Given the description of an element on the screen output the (x, y) to click on. 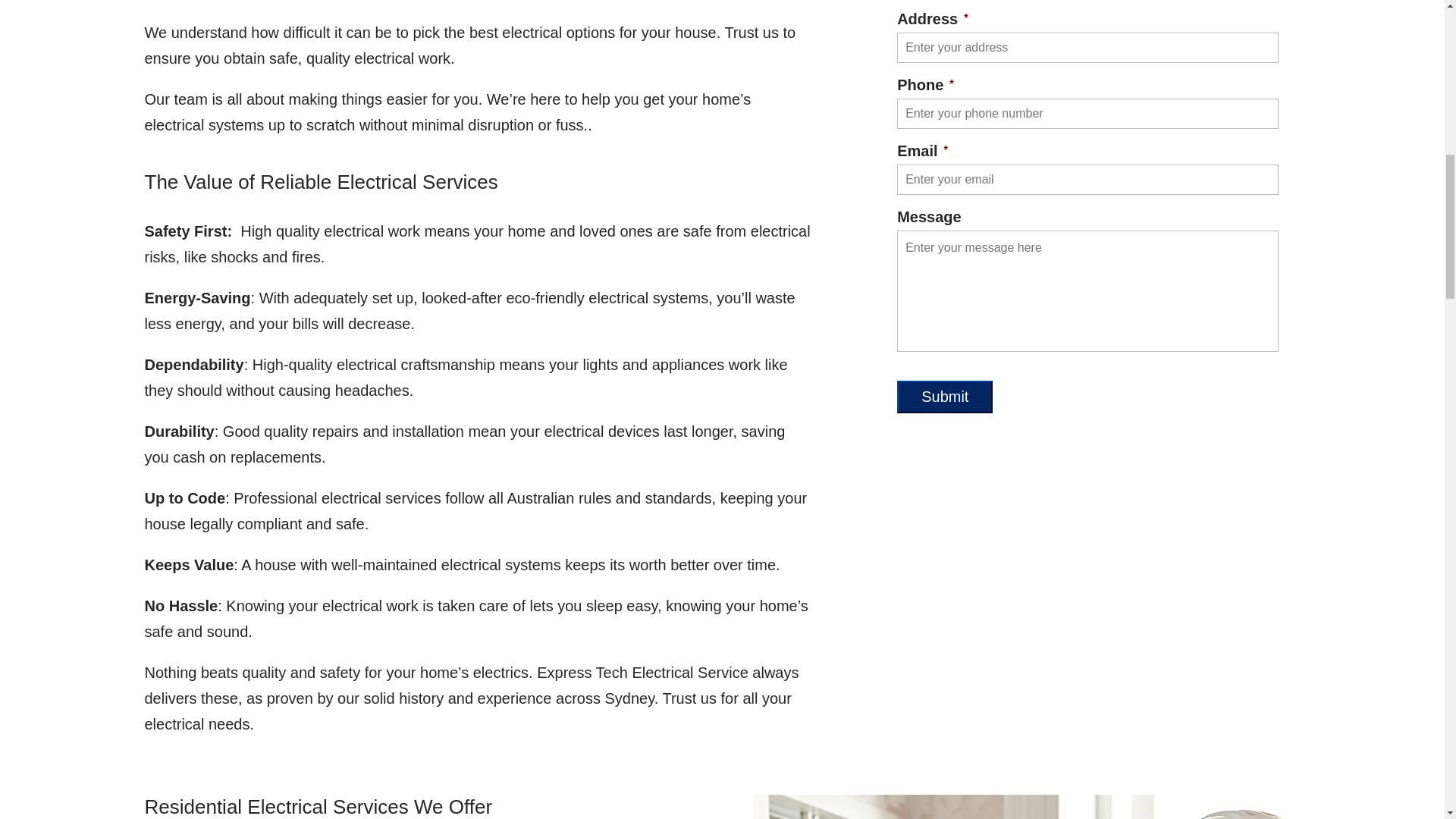
Submit (944, 396)
